Given the description of an element on the screen output the (x, y) to click on. 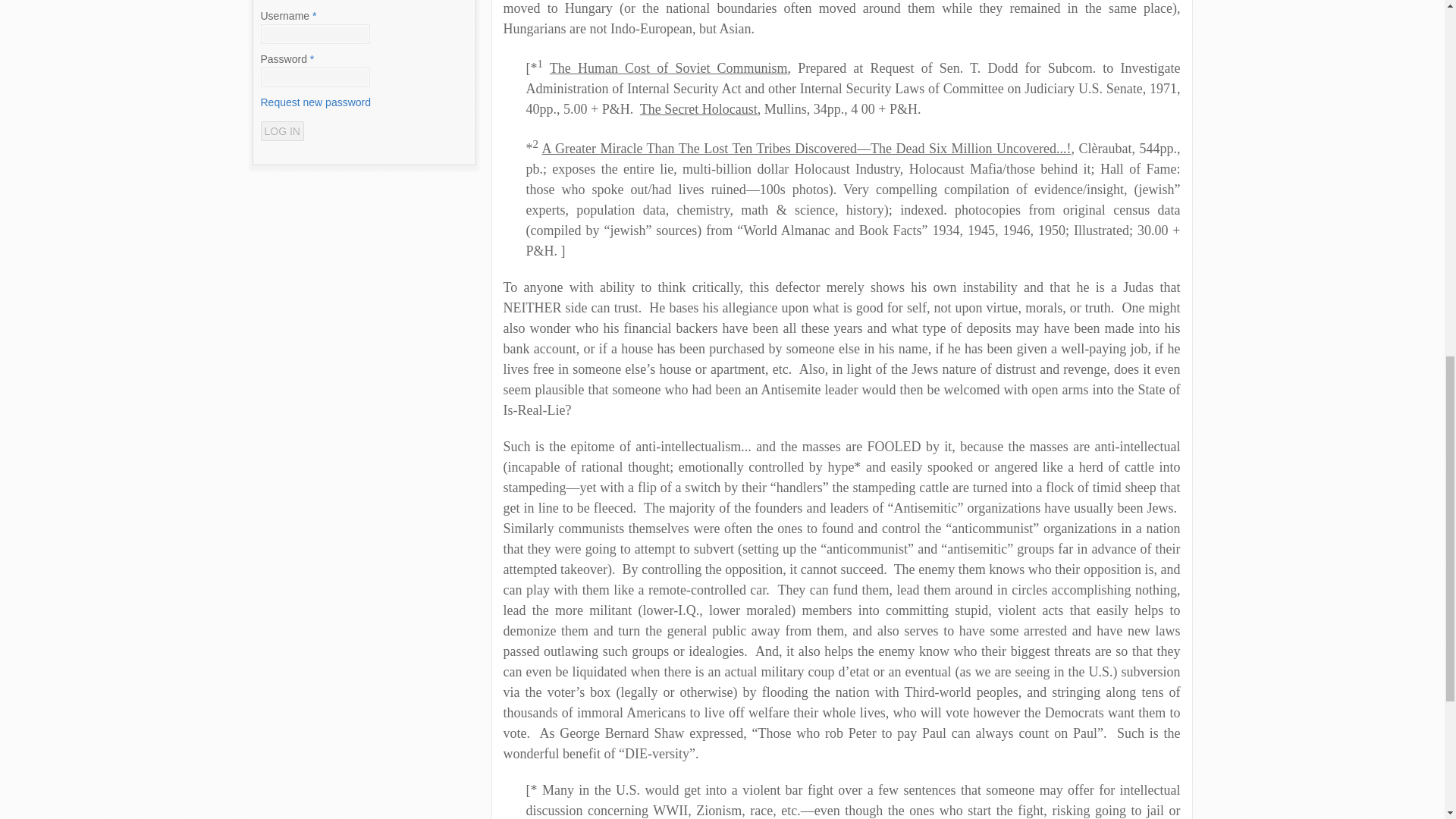
Request new password via e-mail. (315, 102)
Log in (282, 130)
Request new password (315, 102)
Log in (282, 130)
